Given the description of an element on the screen output the (x, y) to click on. 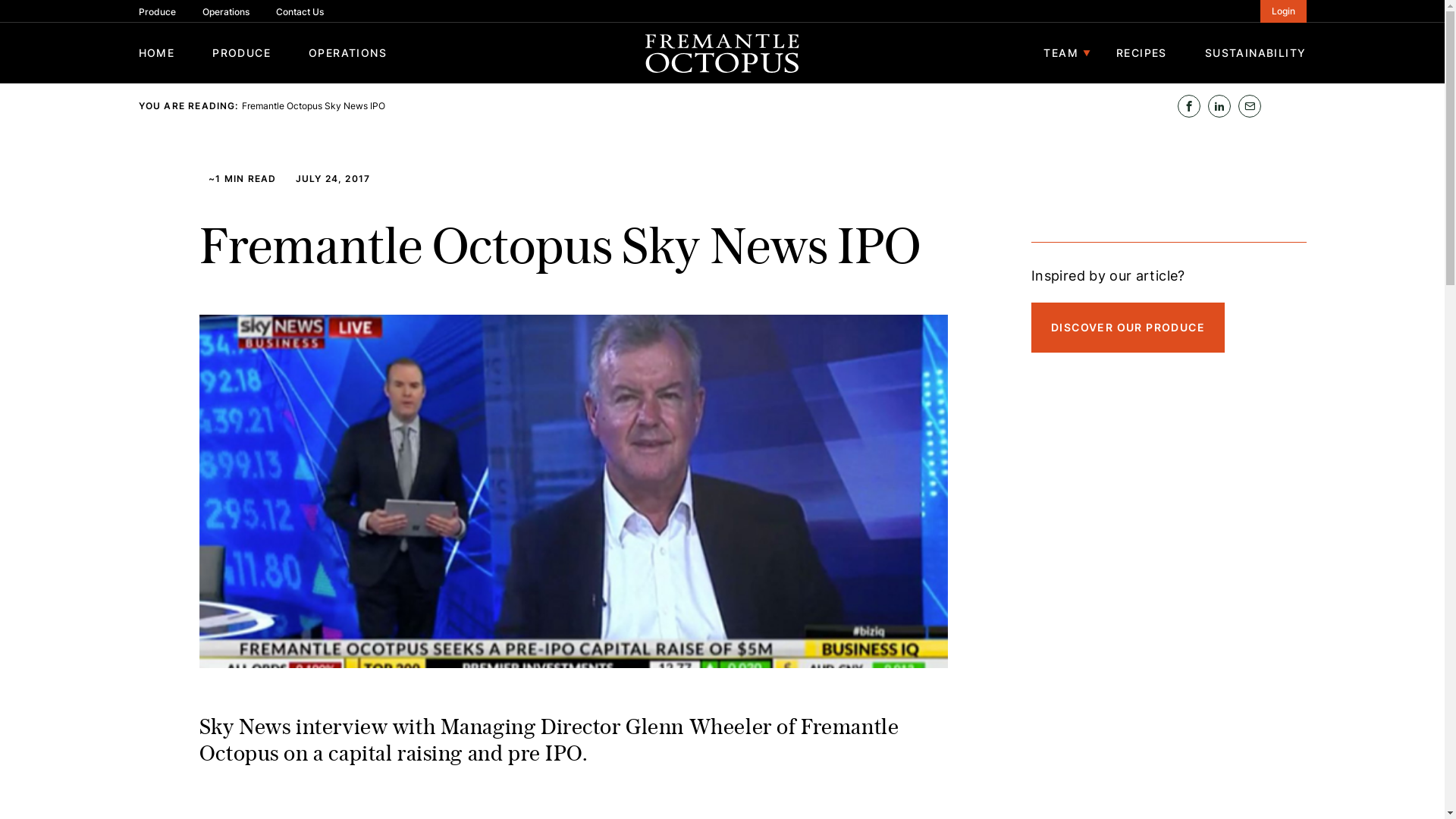
PRODUCE Element type: text (241, 52)
OPERATIONS Element type: text (347, 52)
Operations Element type: text (224, 11)
DISCOVER OUR PRODUCE Element type: text (1127, 327)
SUSTAINABILITY Element type: text (1255, 52)
TEAM Element type: text (1060, 52)
Share on Facebook Element type: hover (1187, 105)
Produce Element type: text (156, 11)
Login Element type: text (1283, 11)
RECIPES Element type: text (1141, 52)
HOME Element type: text (156, 52)
Contact Us Element type: text (299, 11)
Share on Email Element type: hover (1248, 105)
Share on Linkedin Element type: hover (1218, 105)
